Given the description of an element on the screen output the (x, y) to click on. 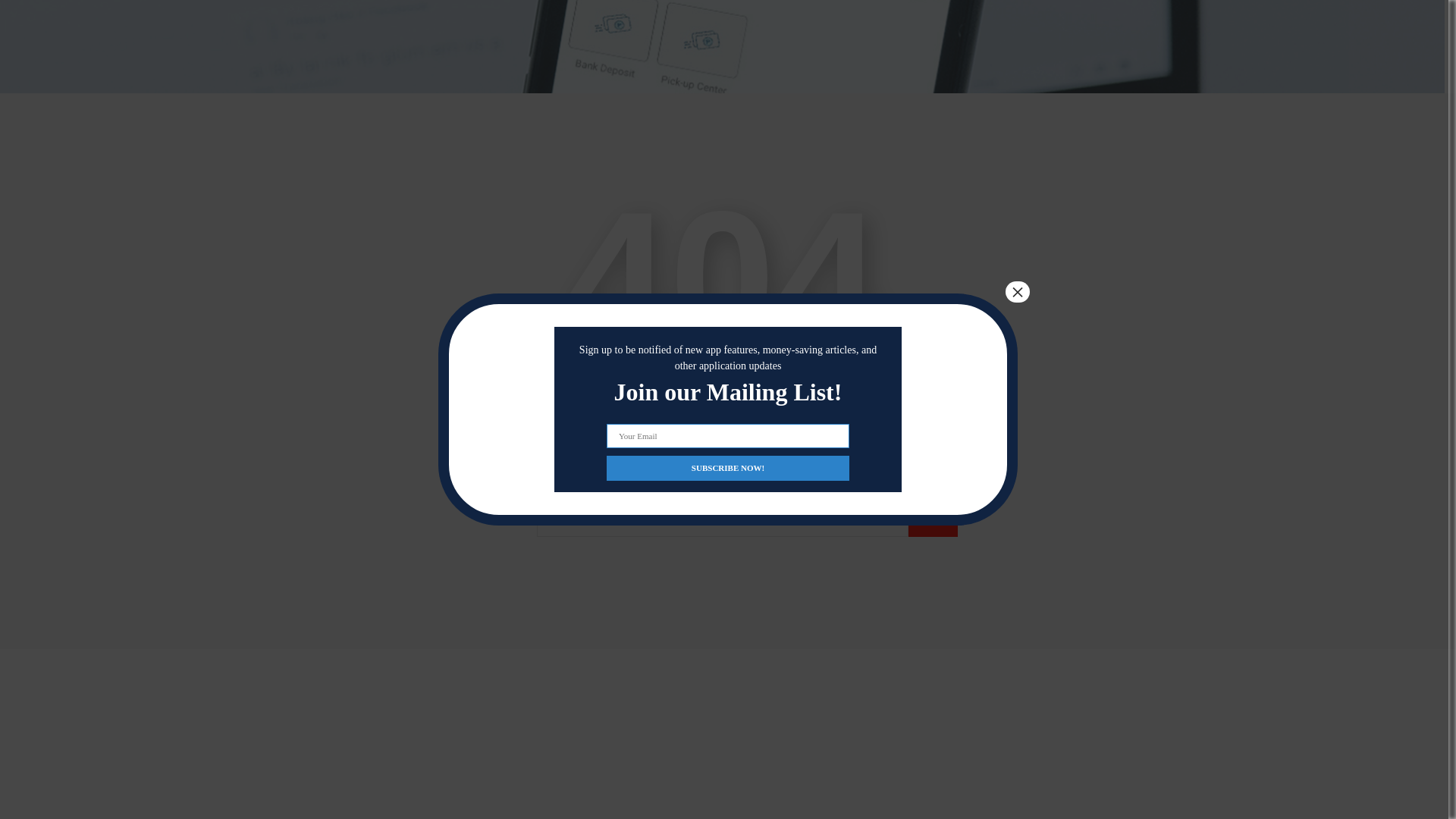
SUBSCRIBE NOW! (727, 285)
Search (933, 521)
Search (933, 521)
SUBSCRIBE NOW! (727, 285)
Search (933, 521)
VISIT HOMEPAGE (722, 422)
